Given the description of an element on the screen output the (x, y) to click on. 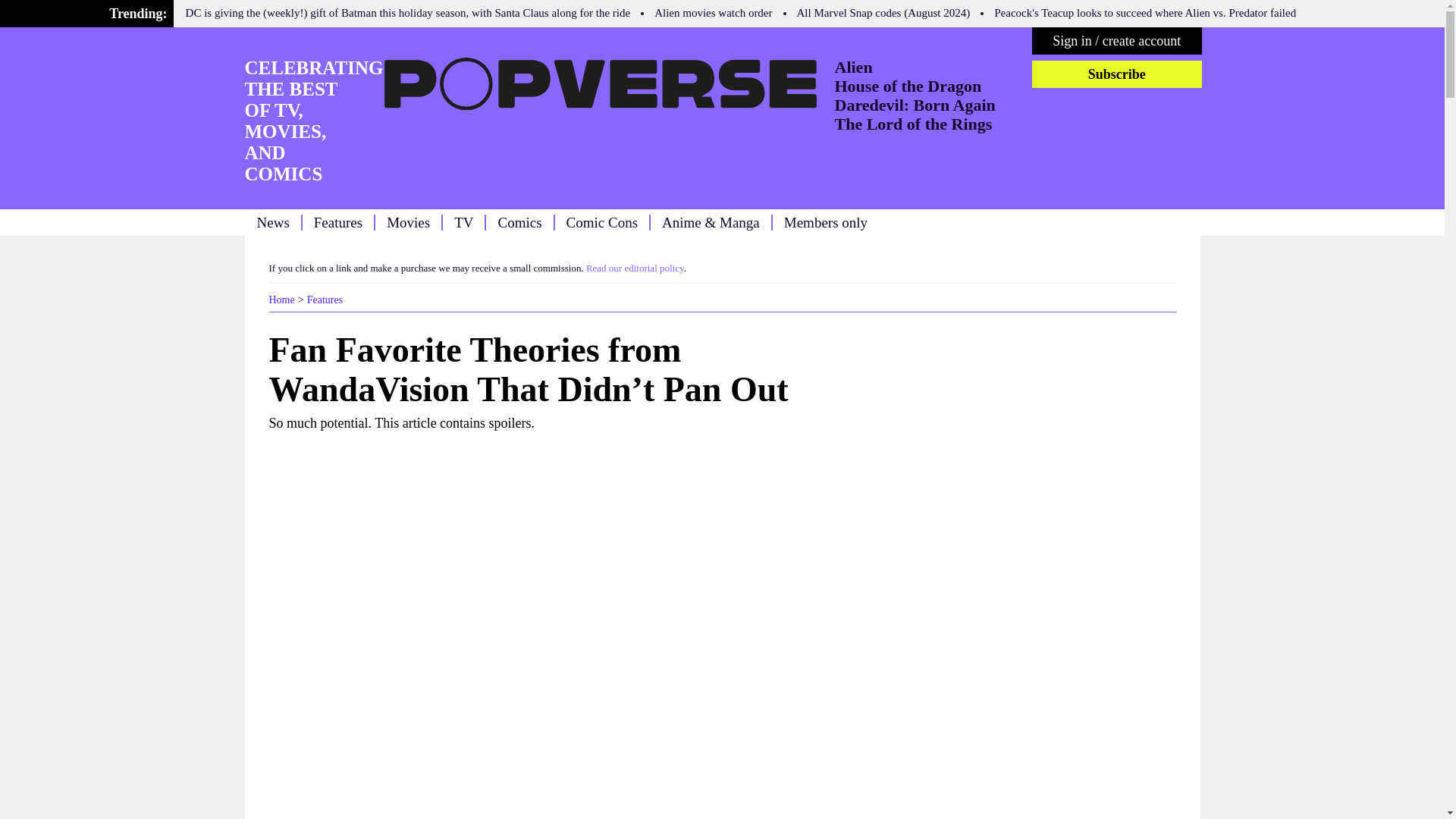
The Lord of the Rings (912, 123)
Daredevil: Born Again (914, 104)
Alien movies watch order (712, 12)
House of the Dragon (907, 85)
Movies (408, 222)
Read our editorial policy (635, 267)
Features (324, 299)
Movies (408, 222)
Alien (853, 66)
